Given the description of an element on the screen output the (x, y) to click on. 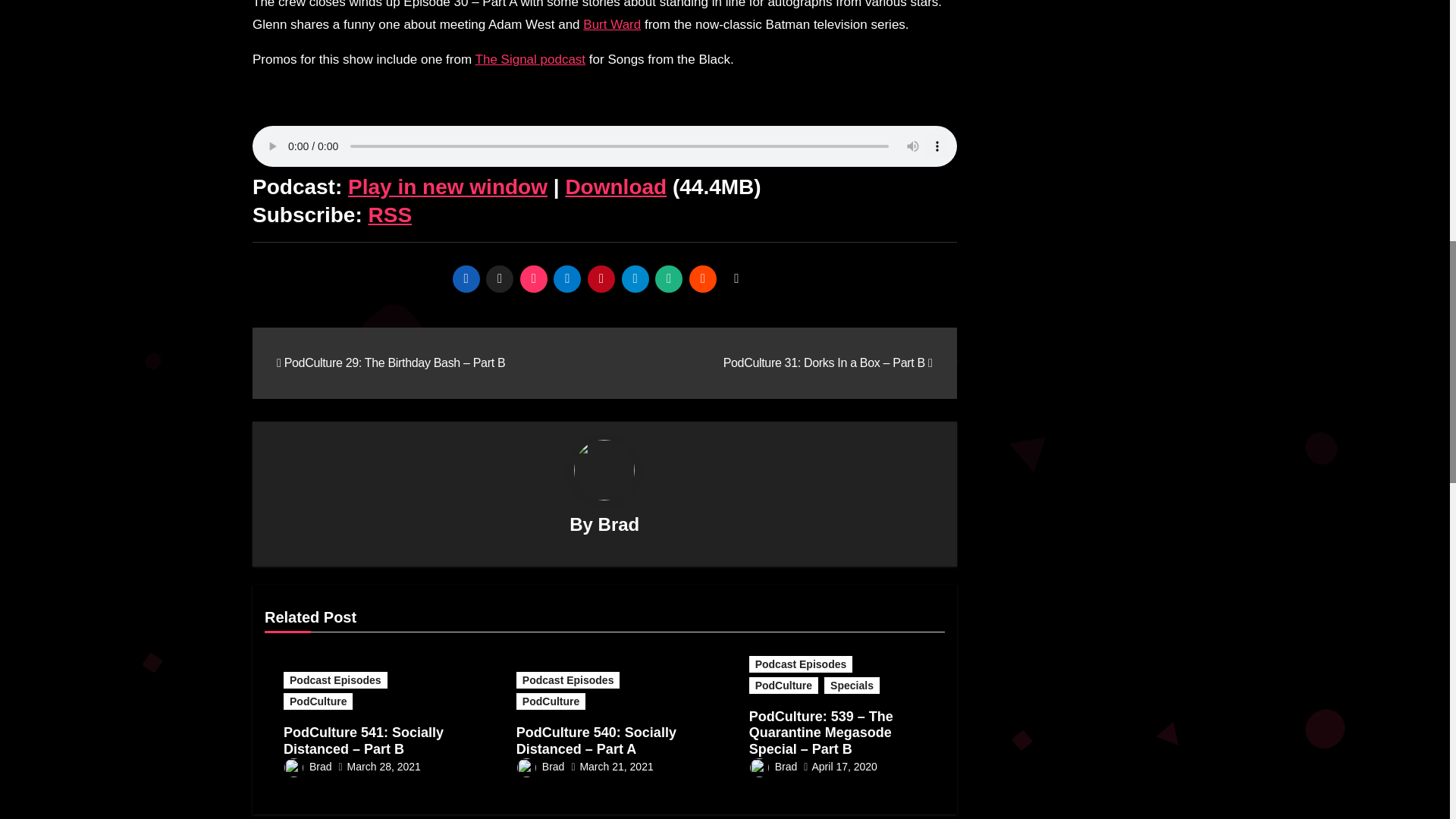
Download (615, 187)
Play in new window (447, 187)
Subscribe via RSS (390, 214)
